Given the description of an element on the screen output the (x, y) to click on. 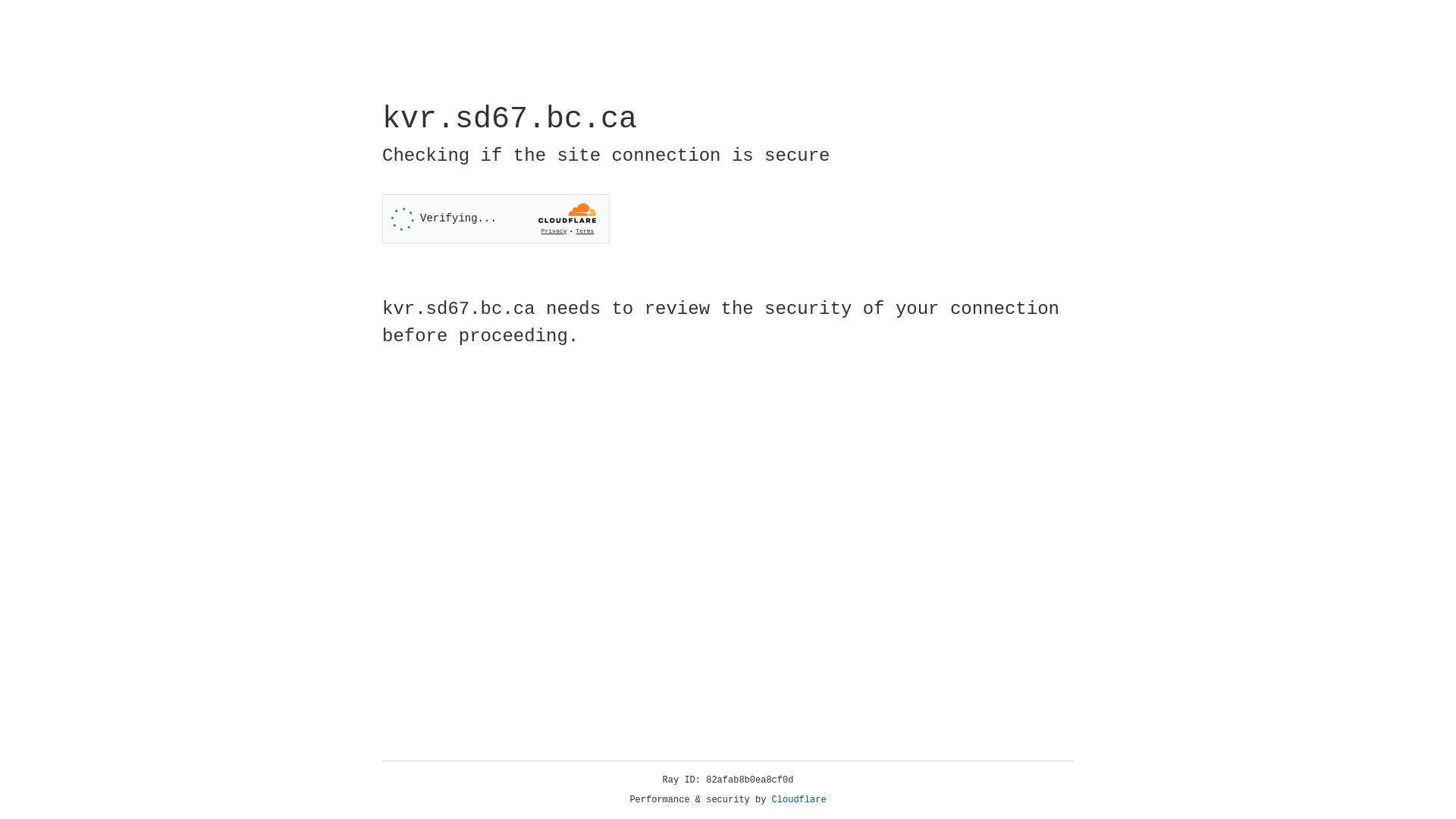
Widget containing a Cloudflare security challenge Element type: hover (495, 218)
Cloudflare Element type: text (798, 799)
